Given the description of an element on the screen output the (x, y) to click on. 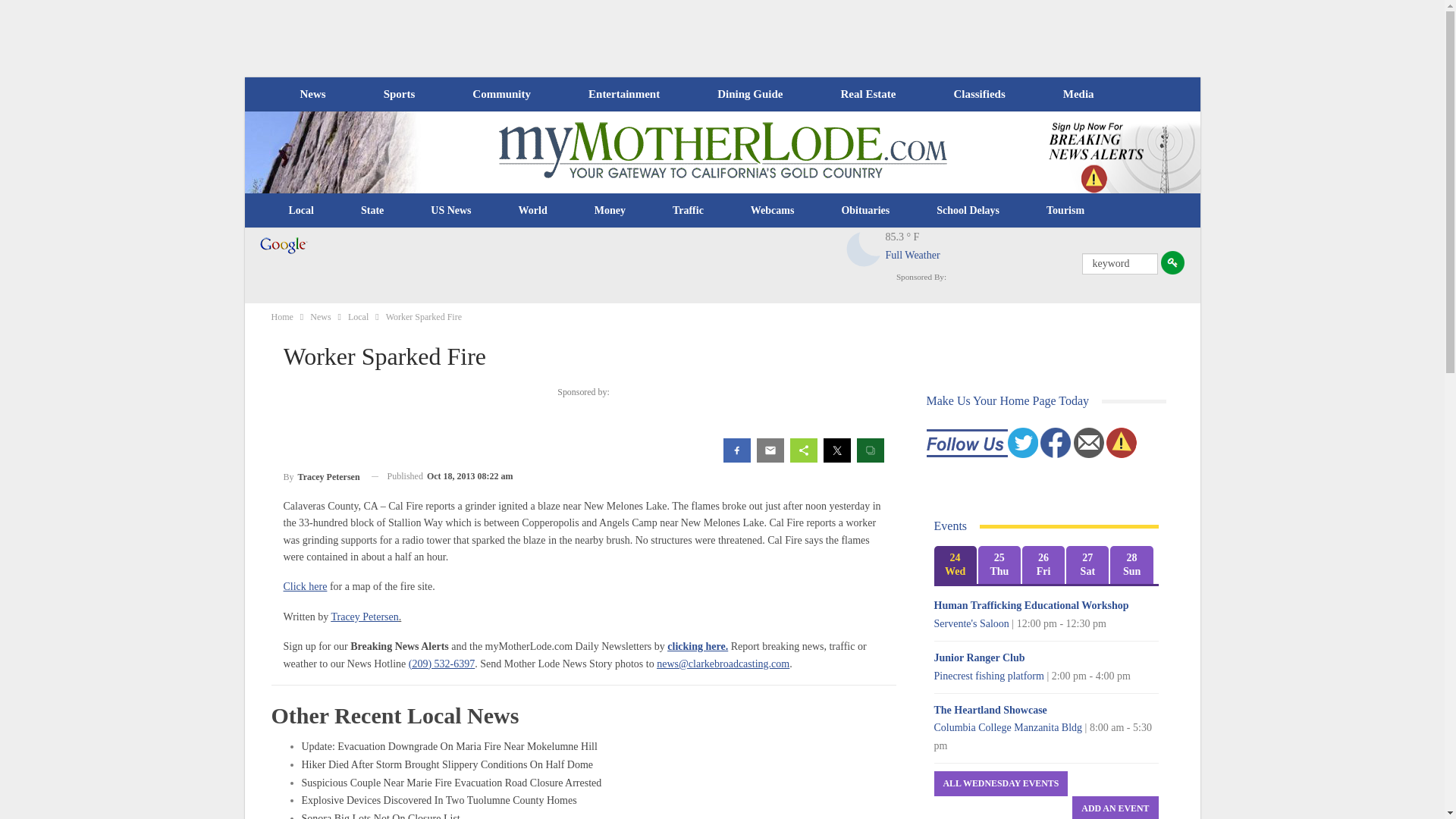
All Wednesday Events (1001, 783)
Entertainment (624, 93)
US News (451, 210)
Add An Event (1114, 807)
World (532, 210)
Dining Guide (749, 93)
Money (609, 210)
School Delays (967, 210)
Obituaries (865, 210)
News (312, 93)
Sports (399, 93)
Tourism (1065, 210)
